Given the description of an element on the screen output the (x, y) to click on. 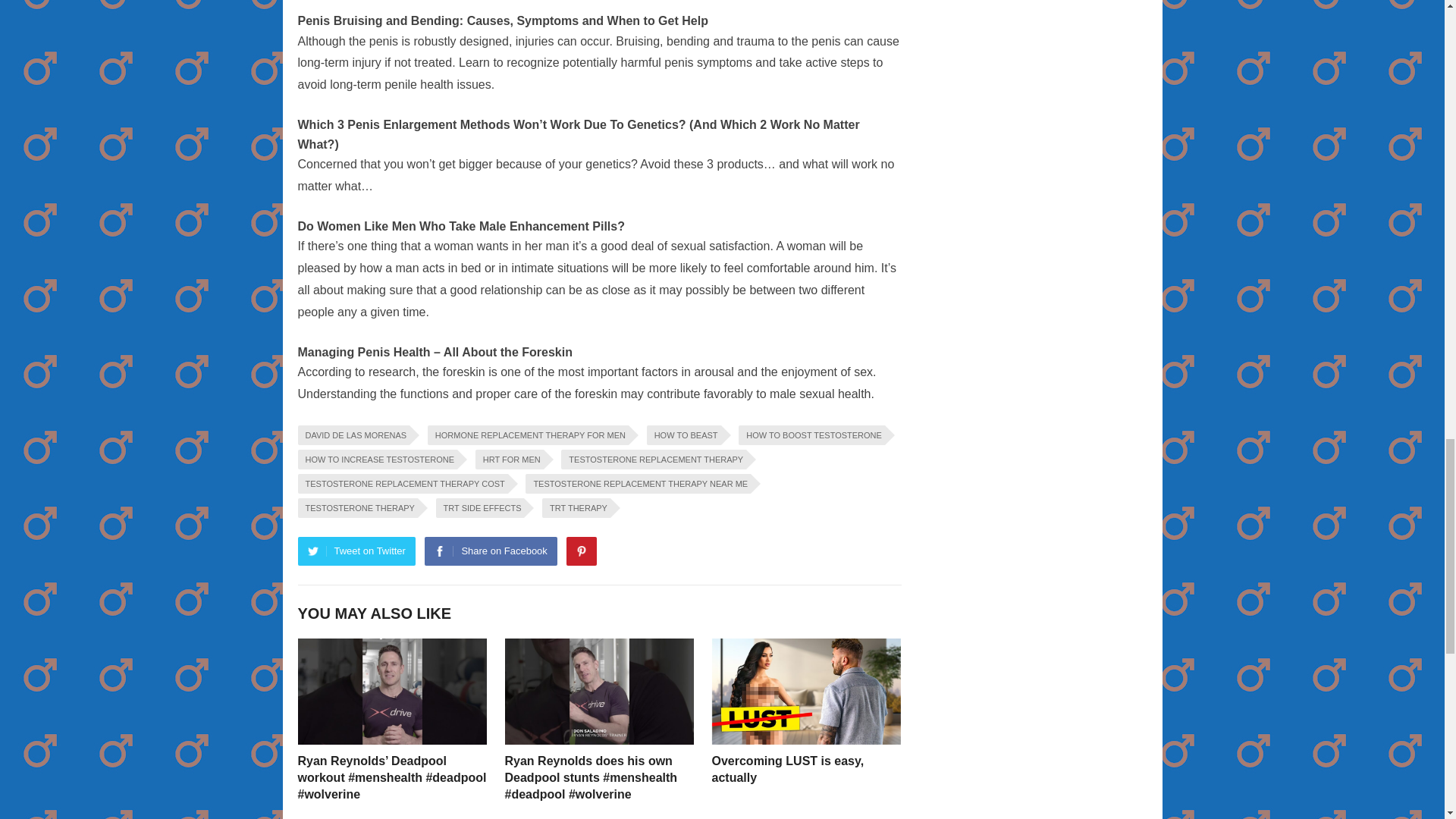
TESTOSTERONE REPLACEMENT THERAPY (652, 459)
HORMONE REPLACEMENT THERAPY FOR MEN (528, 435)
DAVID DE LAS MORENAS (353, 435)
HOW TO INCREASE TESTOSTERONE (377, 459)
HRT FOR MEN (509, 459)
HOW TO BEAST (683, 435)
HOW TO BOOST TESTOSTERONE (811, 435)
Overcoming LUST is easy, actually 6 (805, 690)
